Given the description of an element on the screen output the (x, y) to click on. 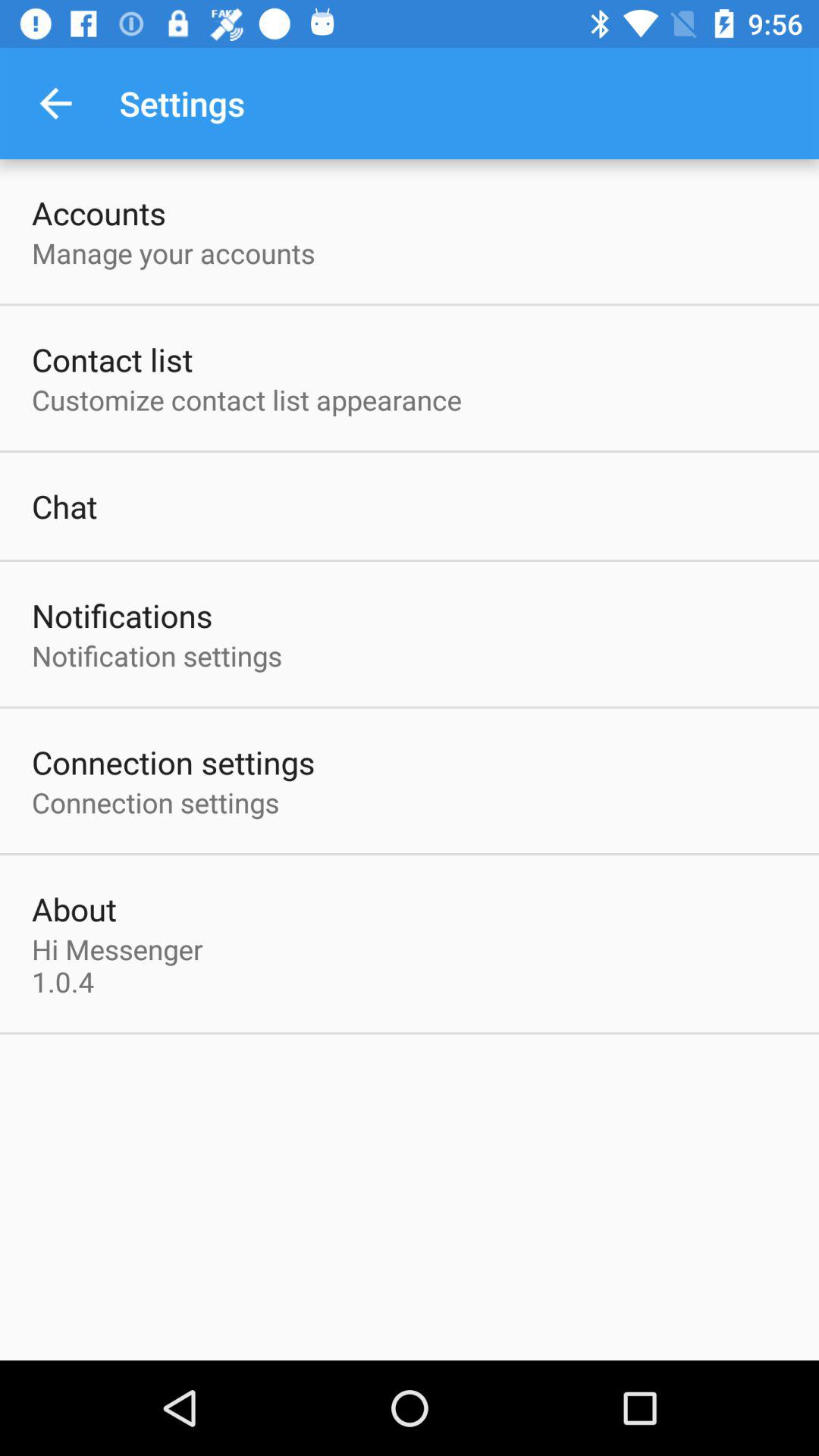
turn off the item below the customize contact list icon (64, 505)
